Given the description of an element on the screen output the (x, y) to click on. 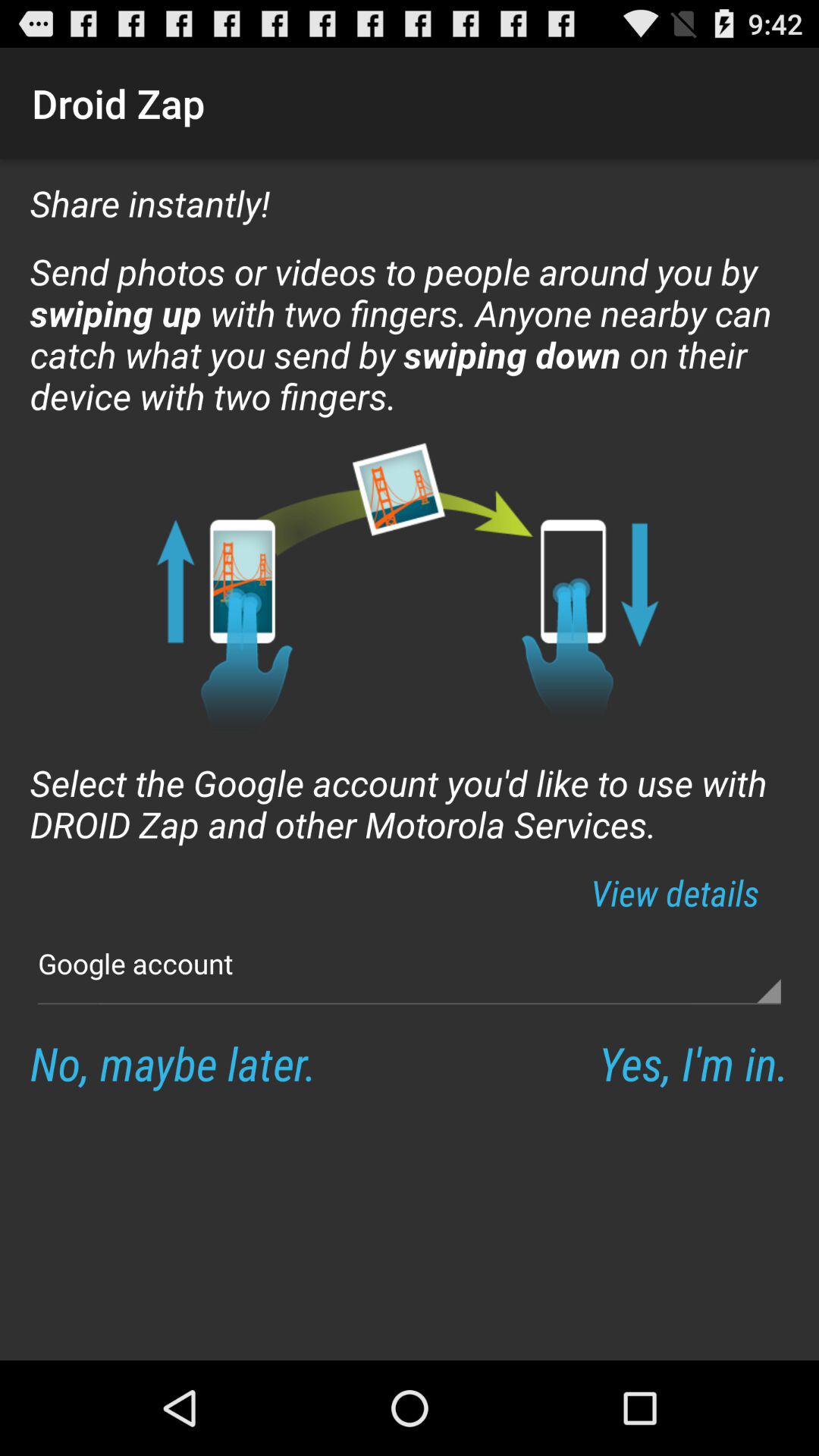
tap item next to the no, maybe later. icon (693, 1062)
